Given the description of an element on the screen output the (x, y) to click on. 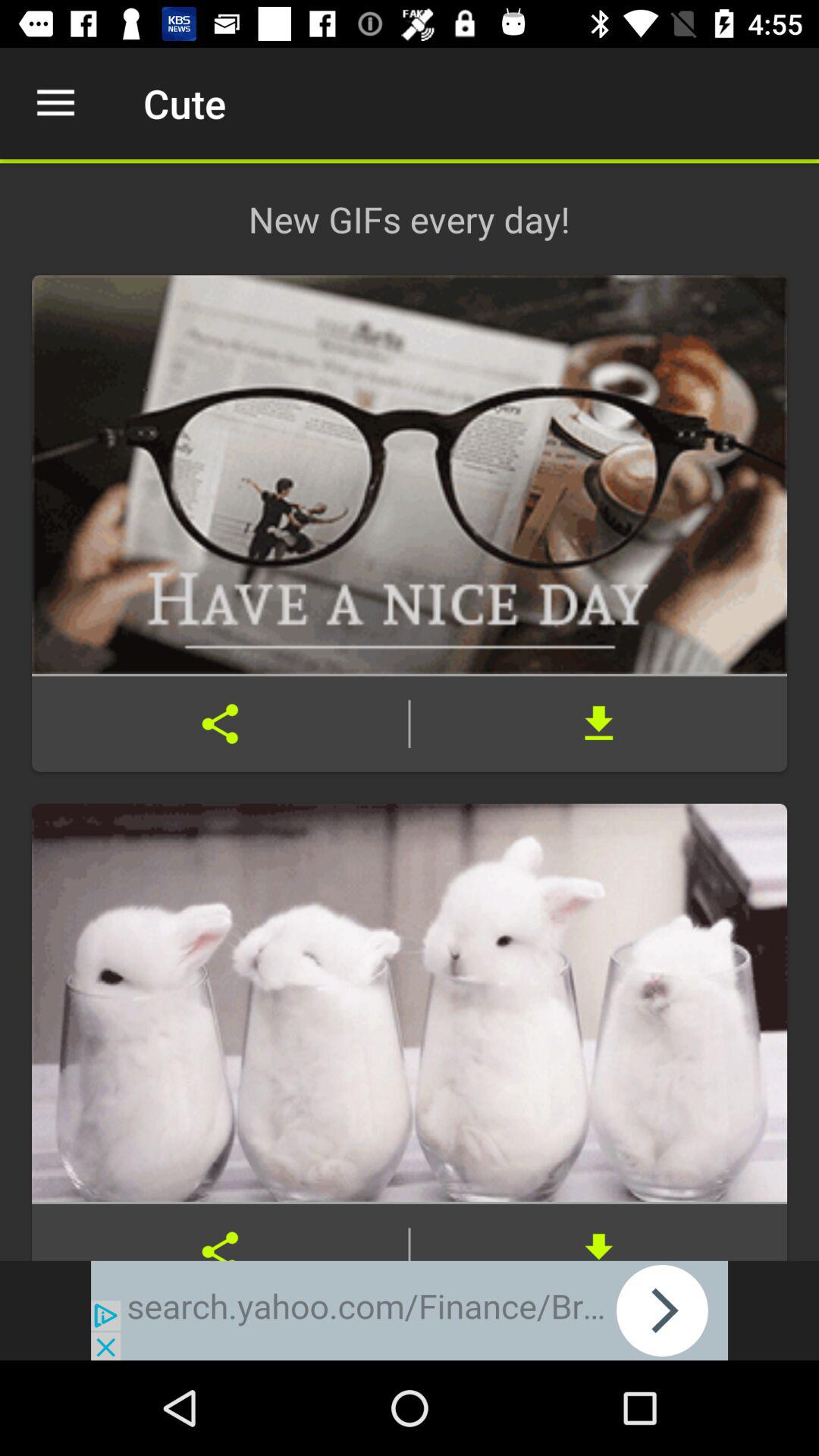
to share (219, 1232)
